Given the description of an element on the screen output the (x, y) to click on. 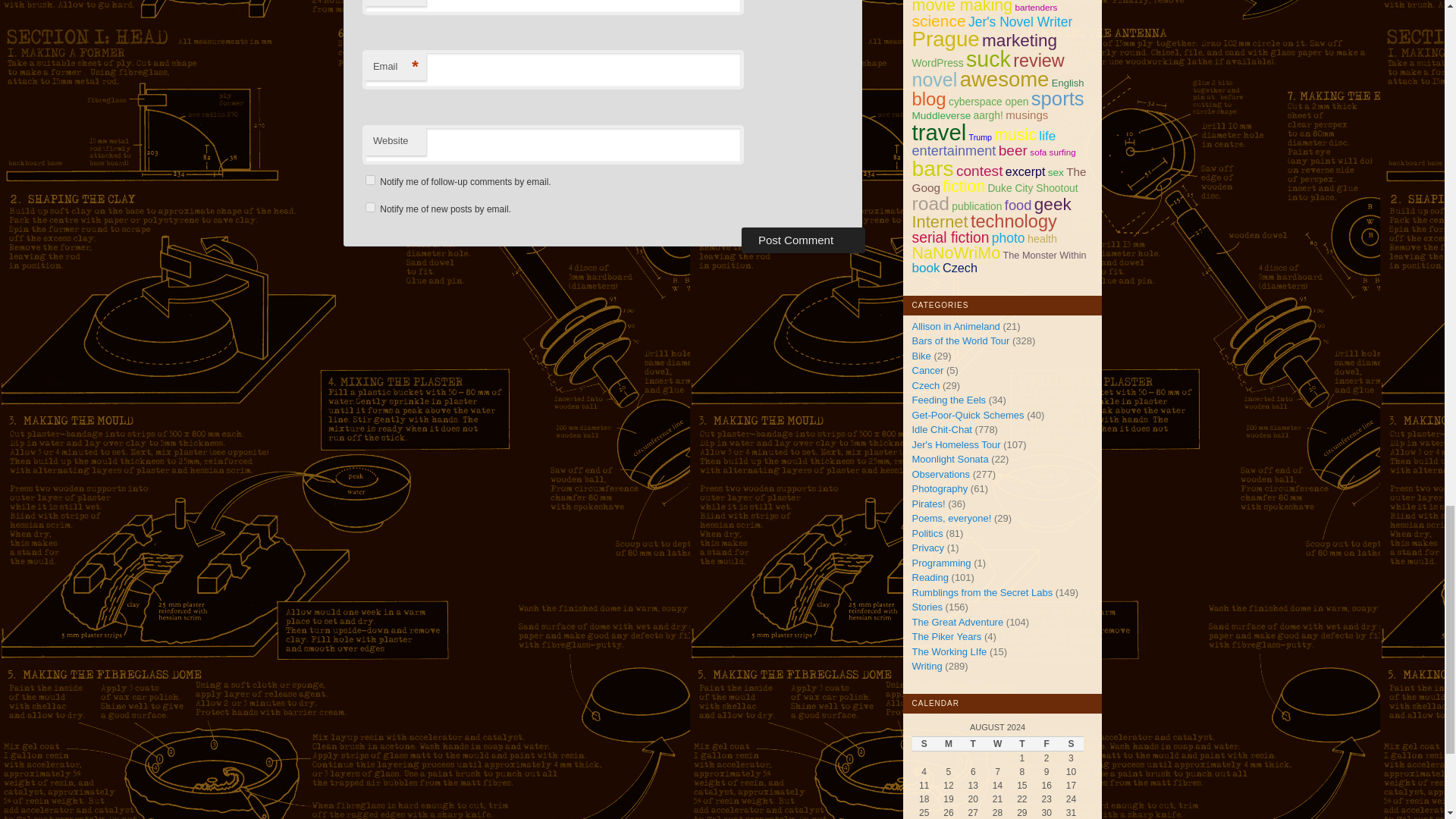
subscribe (370, 207)
Post Comment (802, 240)
Post Comment (802, 240)
subscribe (370, 180)
